Given the description of an element on the screen output the (x, y) to click on. 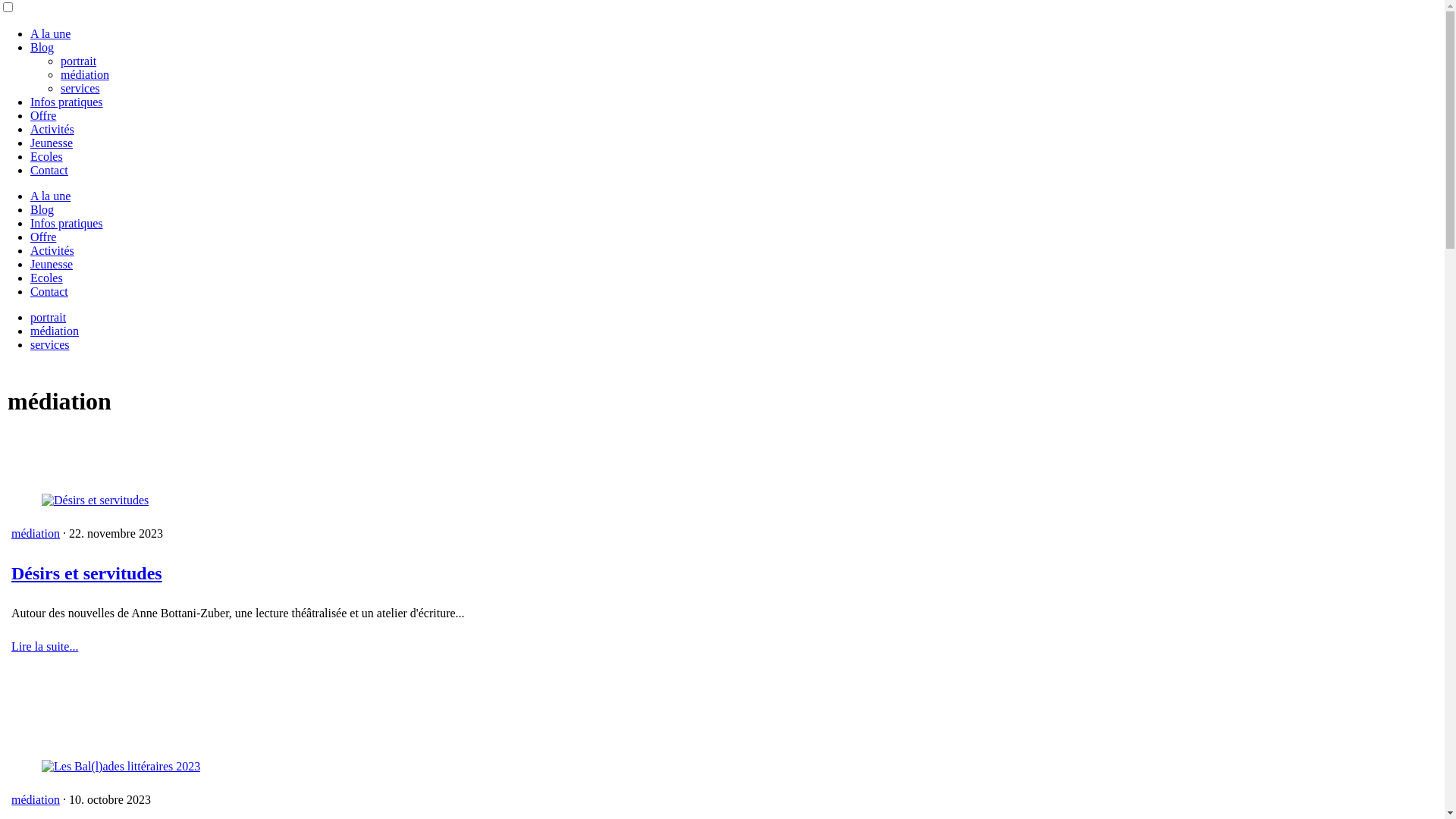
Jeunesse Element type: text (51, 263)
services Element type: text (49, 344)
Contact Element type: text (49, 291)
A la une Element type: text (50, 33)
portrait Element type: text (78, 60)
Lire la suite... Element type: text (44, 646)
Ecoles Element type: text (46, 277)
Offre Element type: text (43, 236)
Offre Element type: text (43, 115)
Ecoles Element type: text (46, 156)
Blog Element type: text (41, 46)
services Element type: text (80, 87)
portrait Element type: text (47, 316)
Contact Element type: text (49, 169)
Infos pratiques Element type: text (66, 101)
Jeunesse Element type: text (51, 142)
A la une Element type: text (50, 195)
Infos pratiques Element type: text (66, 222)
Blog Element type: text (41, 209)
